Given the description of an element on the screen output the (x, y) to click on. 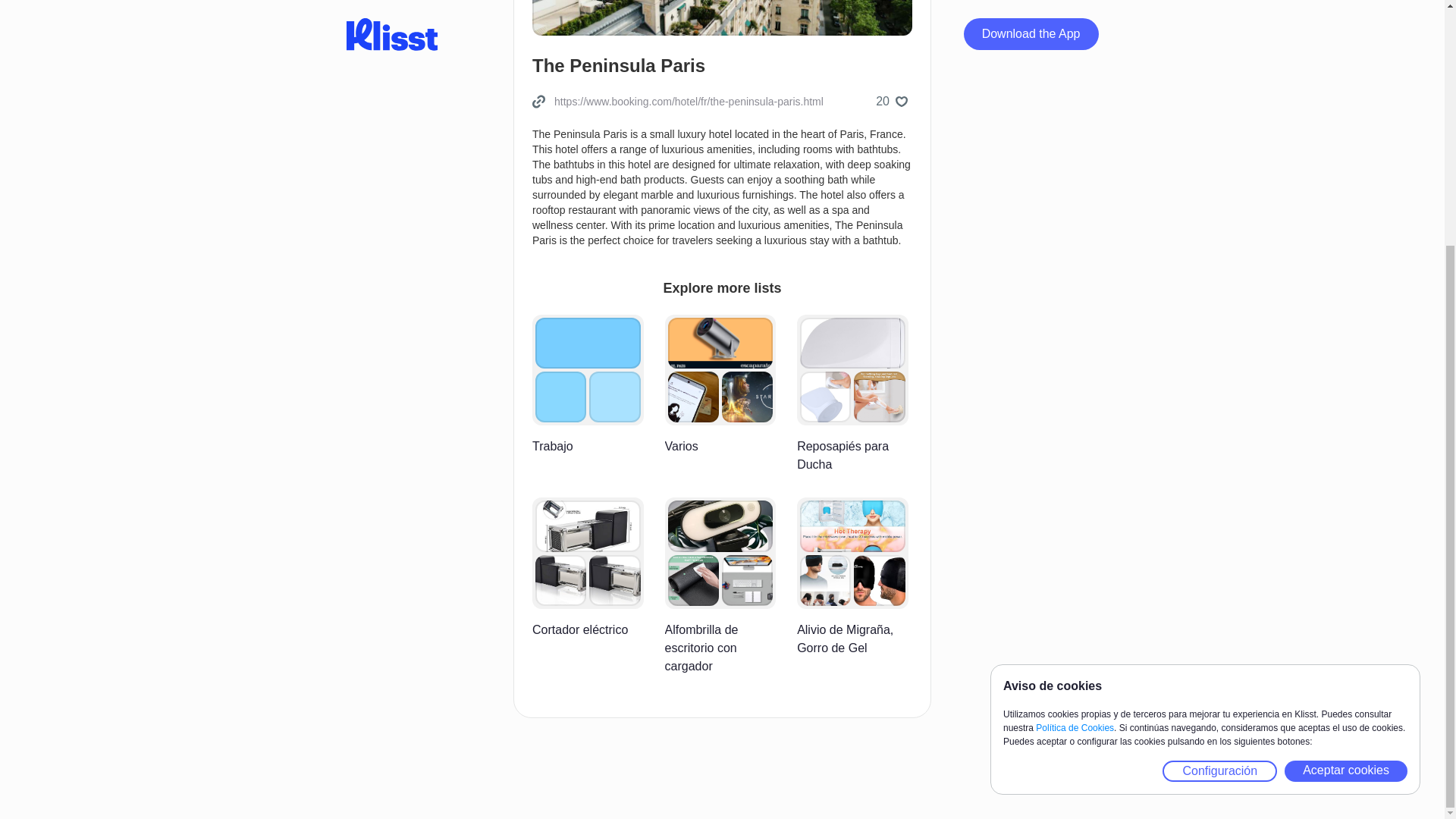
Aceptar cookies (1345, 429)
